Given the description of an element on the screen output the (x, y) to click on. 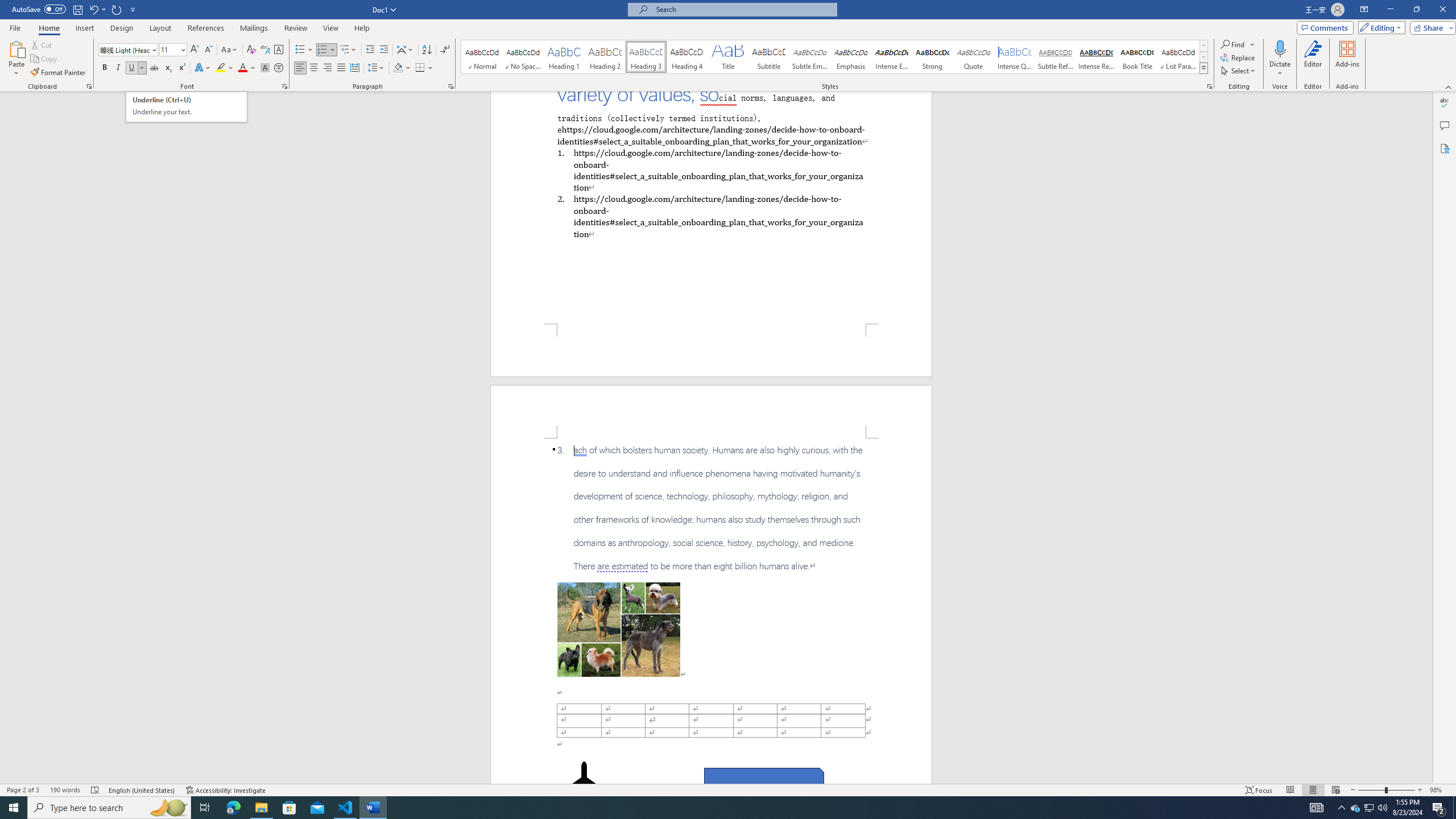
Subtle Emphasis (809, 56)
